Given the description of an element on the screen output the (x, y) to click on. 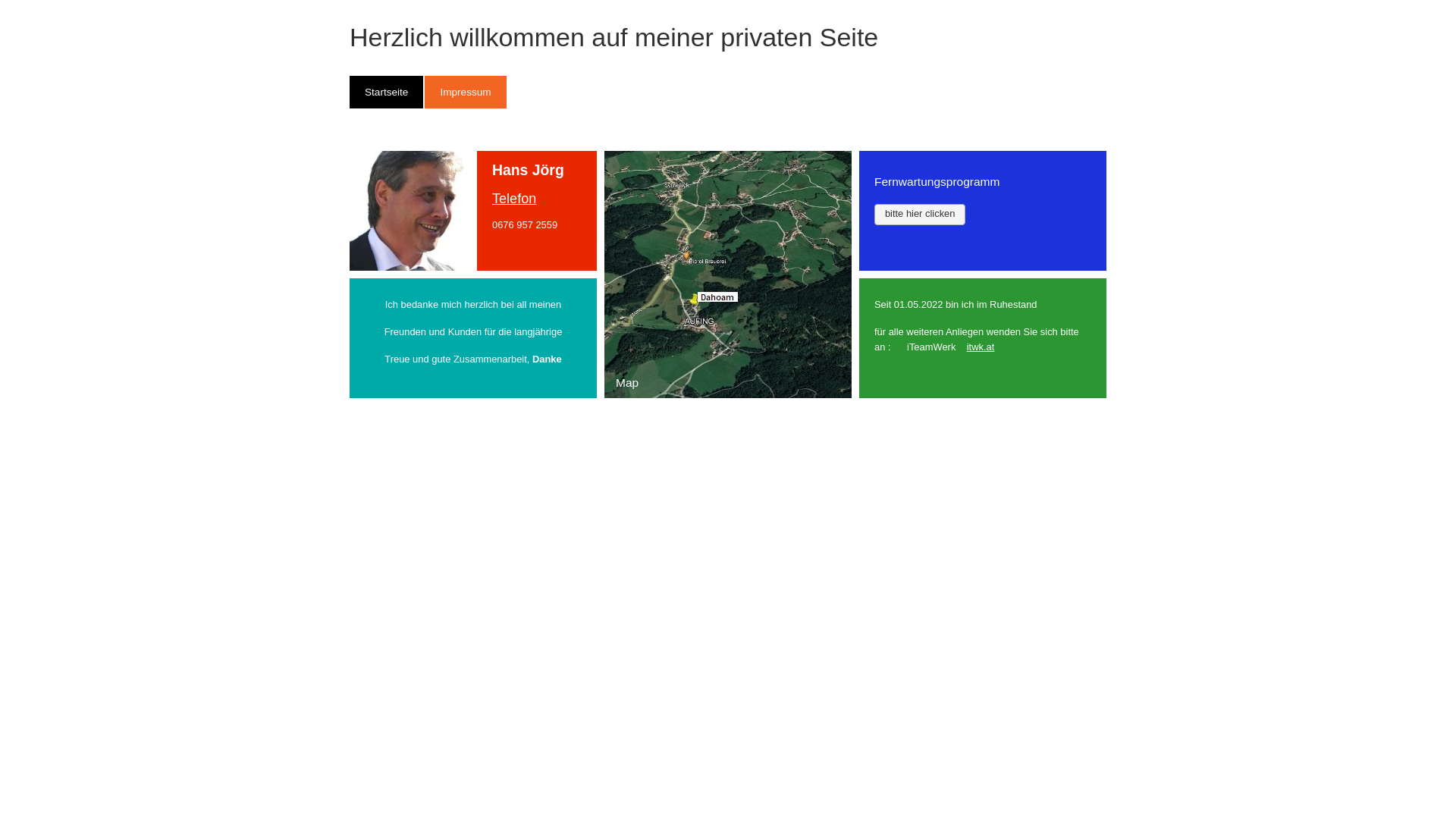
Map Element type: text (727, 274)
itwk.at Element type: text (980, 346)
RSS Element type: text (1092, 25)
WordPress Element type: text (419, 469)
Herzlich willkommen auf meiner privaten Seite Element type: text (613, 36)
Impressum Element type: text (464, 91)
bitte hier clicken Element type: text (919, 214)
Herzlich willkommen auf meiner privaten Seite Element type: text (448, 454)
Themify WordPress Themes Element type: text (503, 469)
Startseite Element type: text (386, 91)
